Given the description of an element on the screen output the (x, y) to click on. 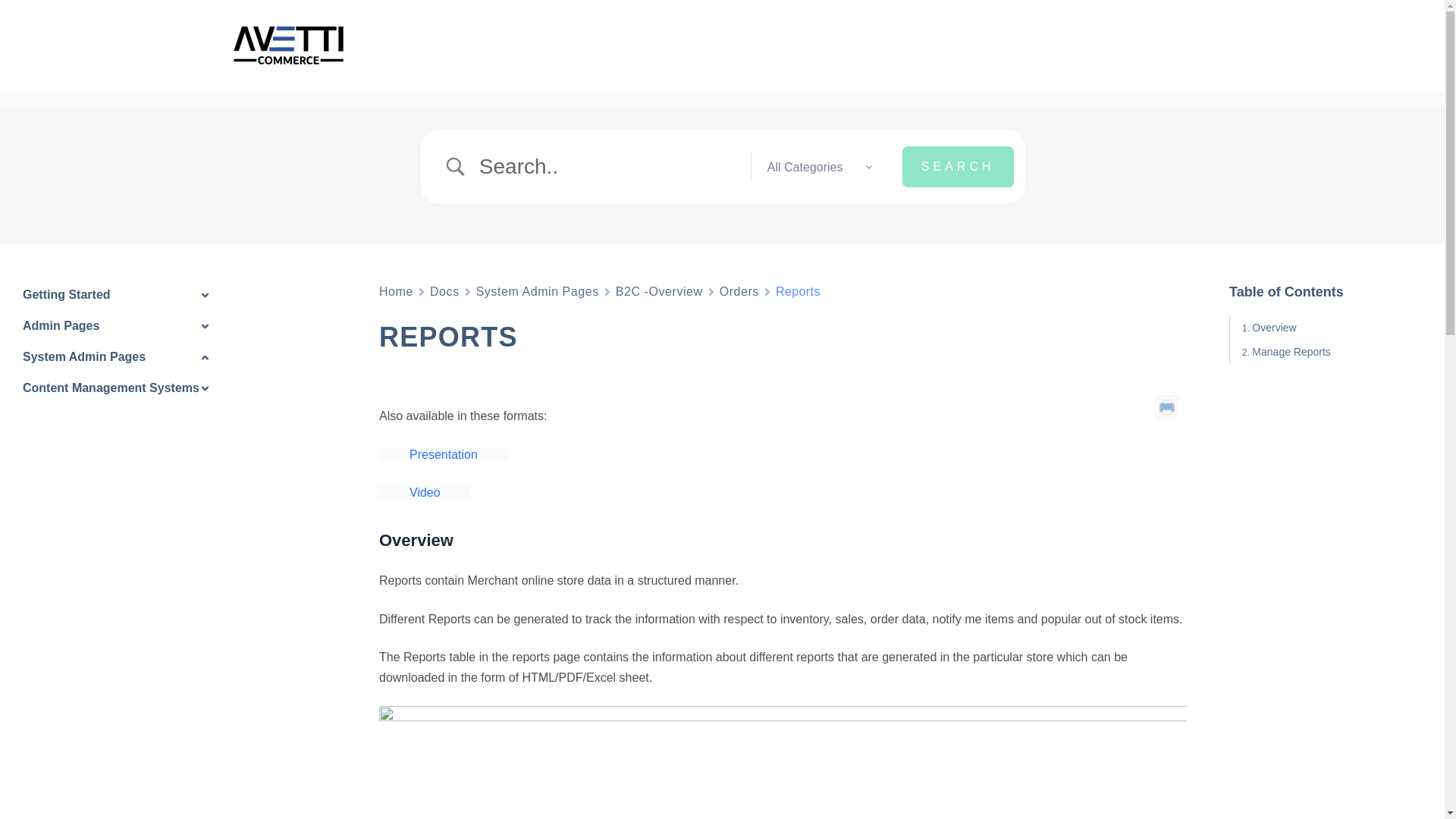
Search (957, 166)
B2C -Overview (659, 291)
Docs (444, 291)
System Admin Pages (537, 291)
Search (957, 166)
Search (957, 166)
Orders (738, 291)
Home (395, 291)
Skip to content (15, 7)
